Given the description of an element on the screen output the (x, y) to click on. 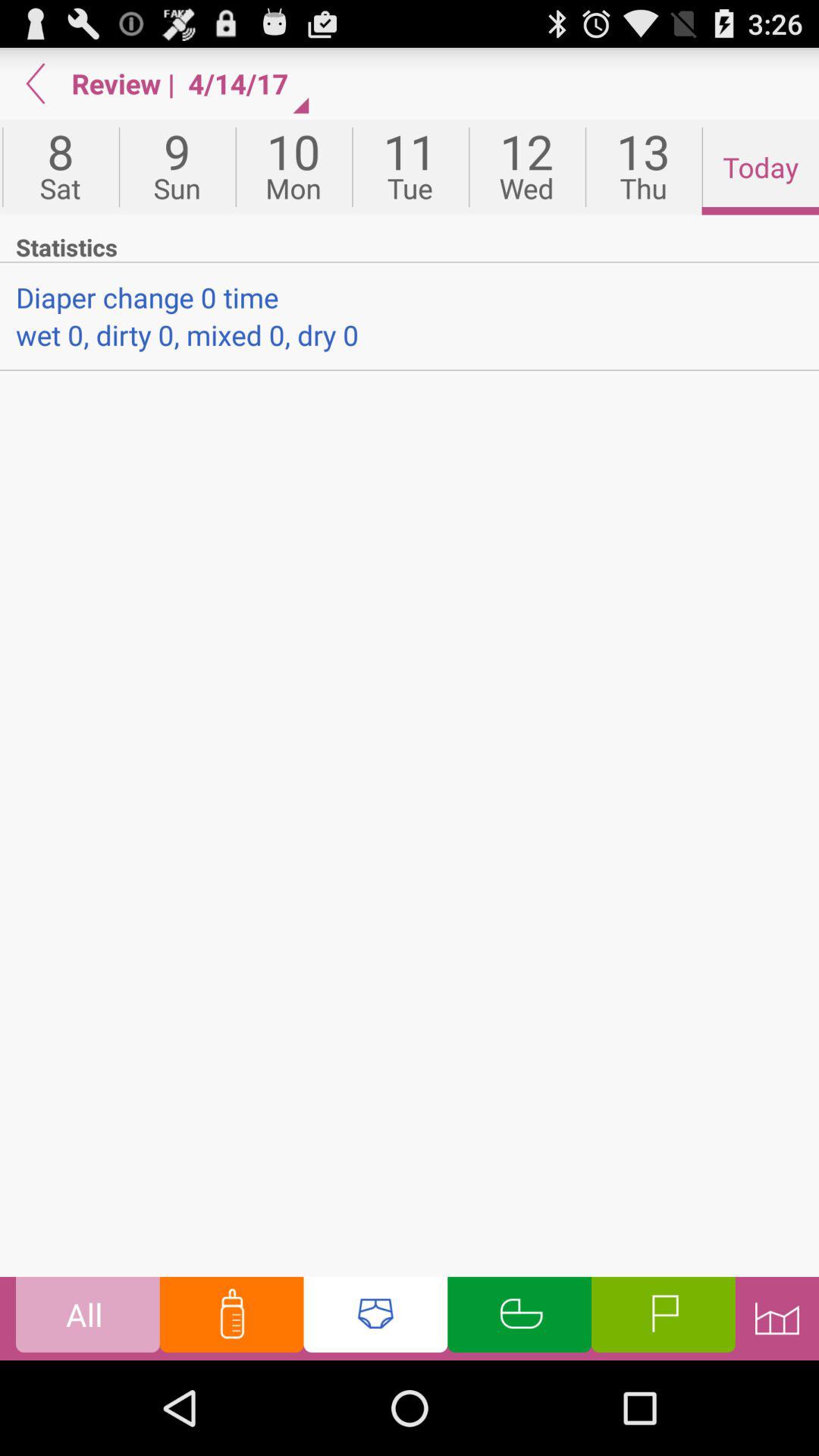
view historical information (777, 1318)
